Given the description of an element on the screen output the (x, y) to click on. 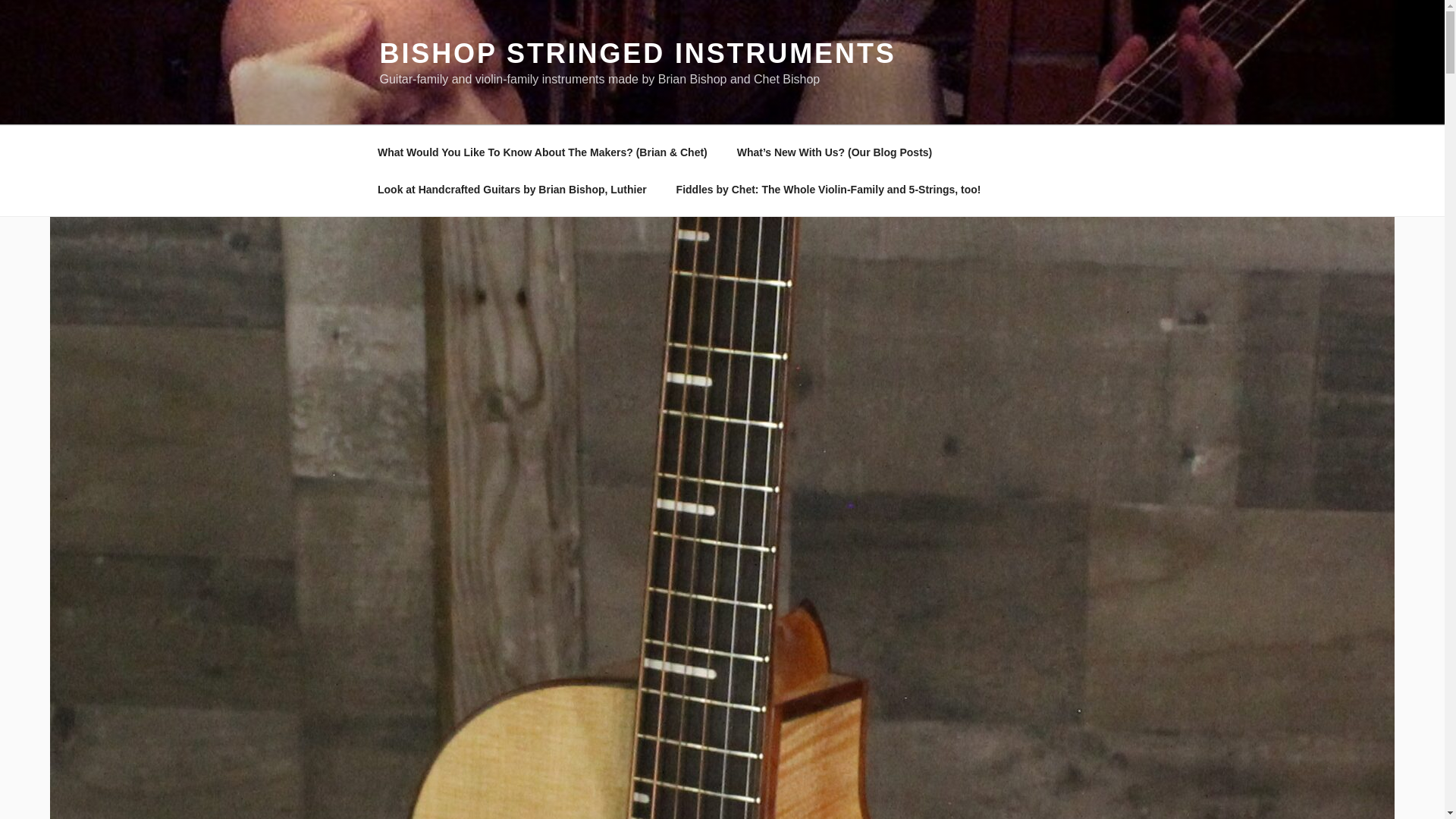
Fiddles by Chet: The Whole Violin-Family and 5-Strings, too! (828, 189)
Look at Handcrafted Guitars by Brian Bishop, Luthier (511, 189)
BISHOP STRINGED INSTRUMENTS (636, 52)
